Given the description of an element on the screen output the (x, y) to click on. 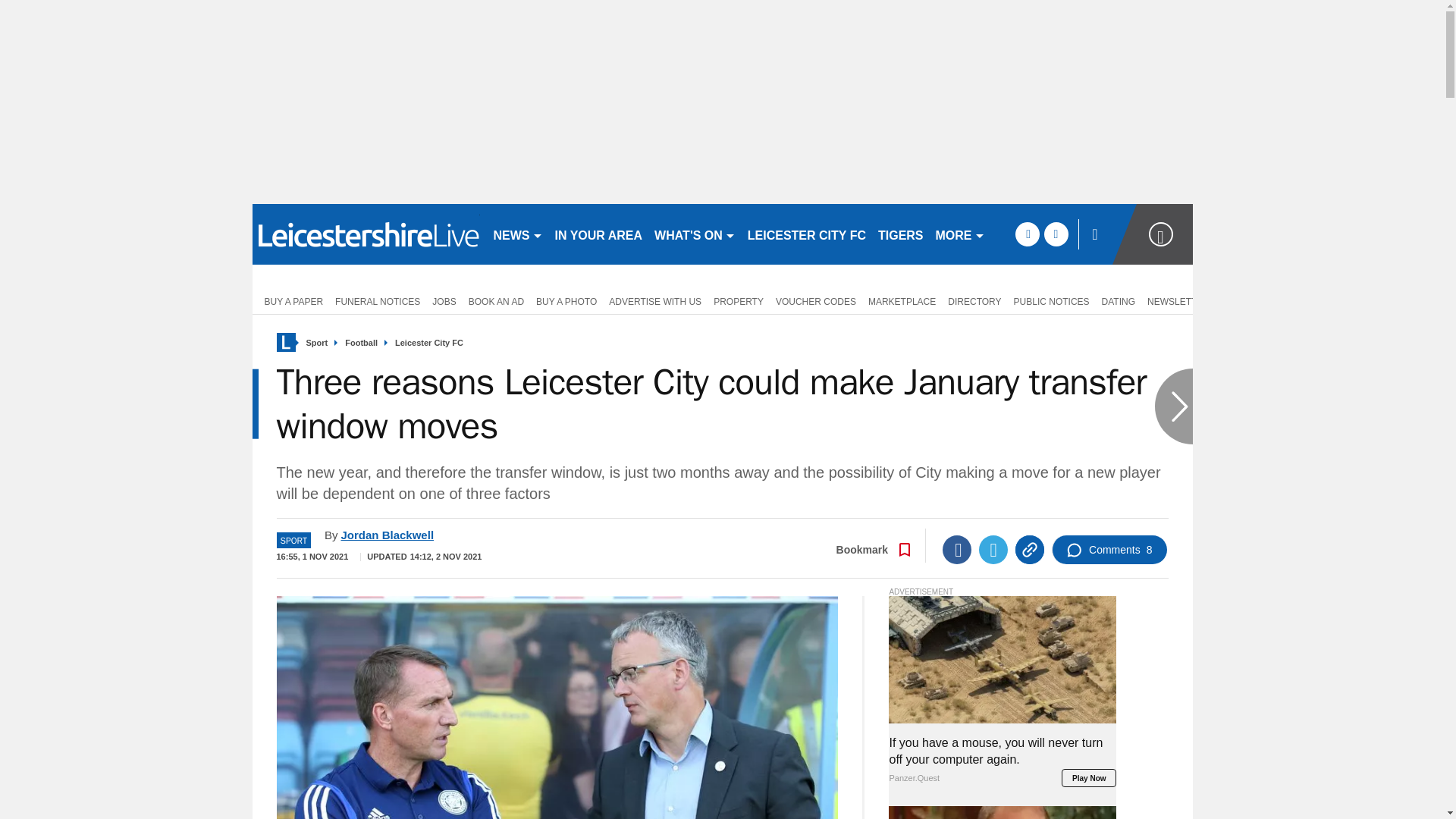
LEICESTER CITY FC (806, 233)
TIGERS (901, 233)
Comments (1108, 549)
Facebook (956, 549)
NEWS (517, 233)
twitter (1055, 233)
leicestermercury (365, 233)
WHAT'S ON (694, 233)
IN YOUR AREA (598, 233)
MORE (960, 233)
facebook (1026, 233)
Twitter (992, 549)
